Given the description of an element on the screen output the (x, y) to click on. 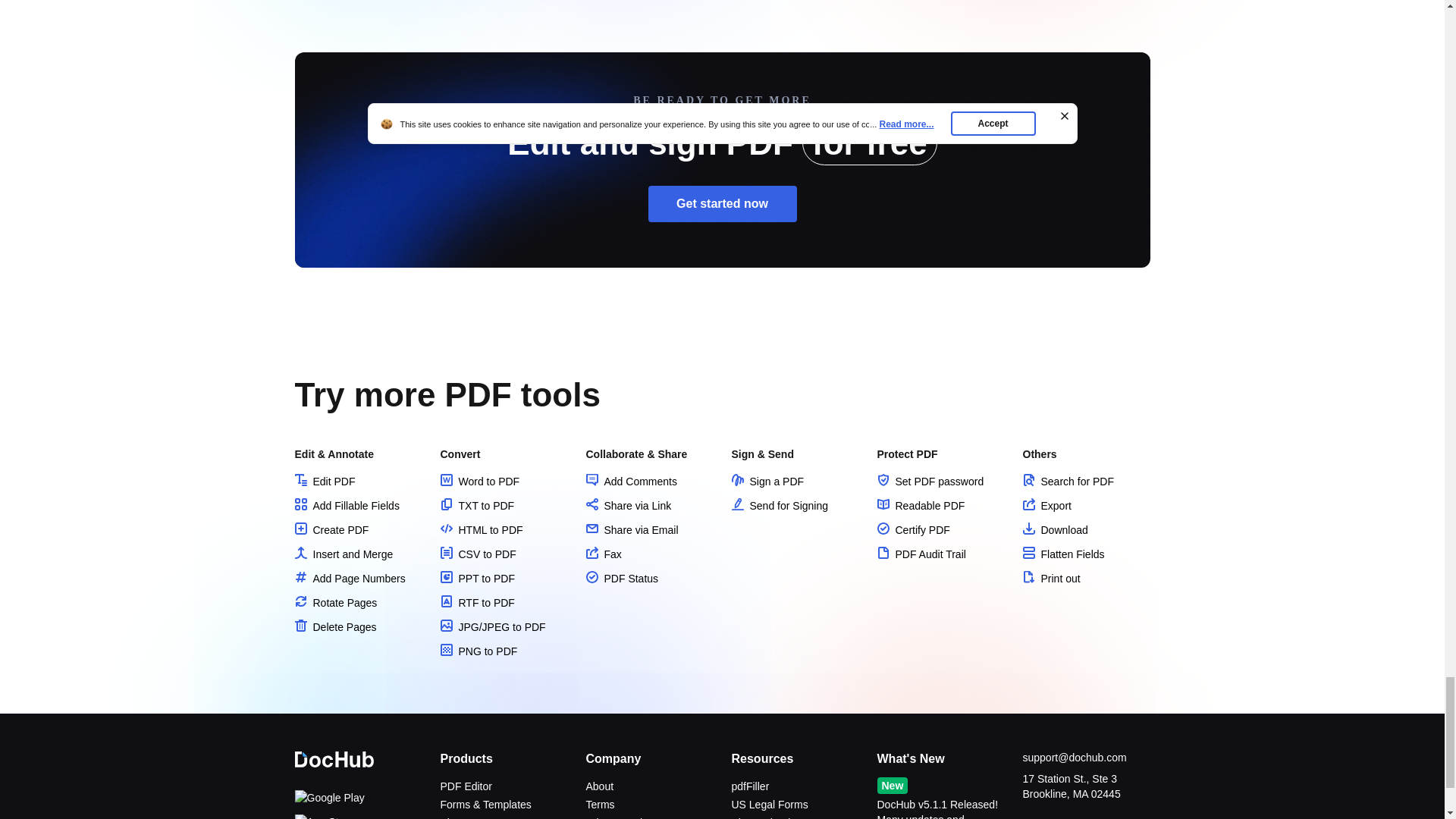
Add Page Numbers (349, 578)
Share via Email (631, 530)
Get started now (721, 203)
RTF to PDF (476, 603)
TXT to PDF (476, 505)
PPT to PDF (476, 578)
Edit PDF (324, 481)
Share via Link (628, 505)
Insert and Merge (343, 553)
Create PDF (331, 530)
Word to PDF (479, 481)
HTML to PDF (480, 530)
Delete Pages (334, 626)
PNG to PDF (477, 651)
CSV to PDF (477, 553)
